Given the description of an element on the screen output the (x, y) to click on. 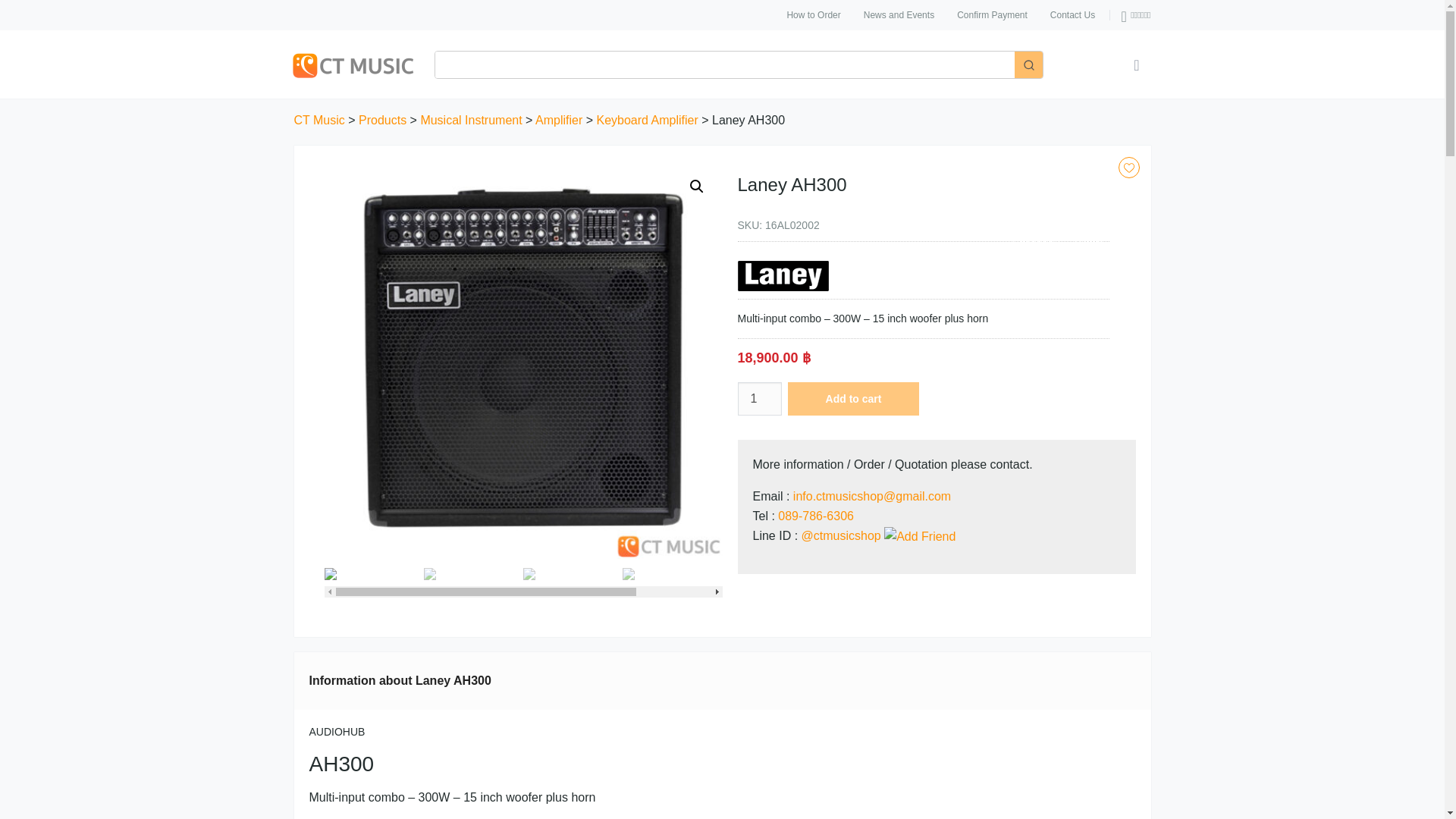
Go to the Amplifier Category archives. (558, 119)
News and Events (897, 15)
Go to the Musical Instrument Category archives. (470, 119)
How to Order (812, 15)
Contact Us (1072, 15)
Go to Products. (382, 119)
Go to the Keyboard Amplifier Category archives. (646, 119)
1 (758, 398)
Go to CT Music. (319, 119)
Confirm Payment (991, 15)
